Given the description of an element on the screen output the (x, y) to click on. 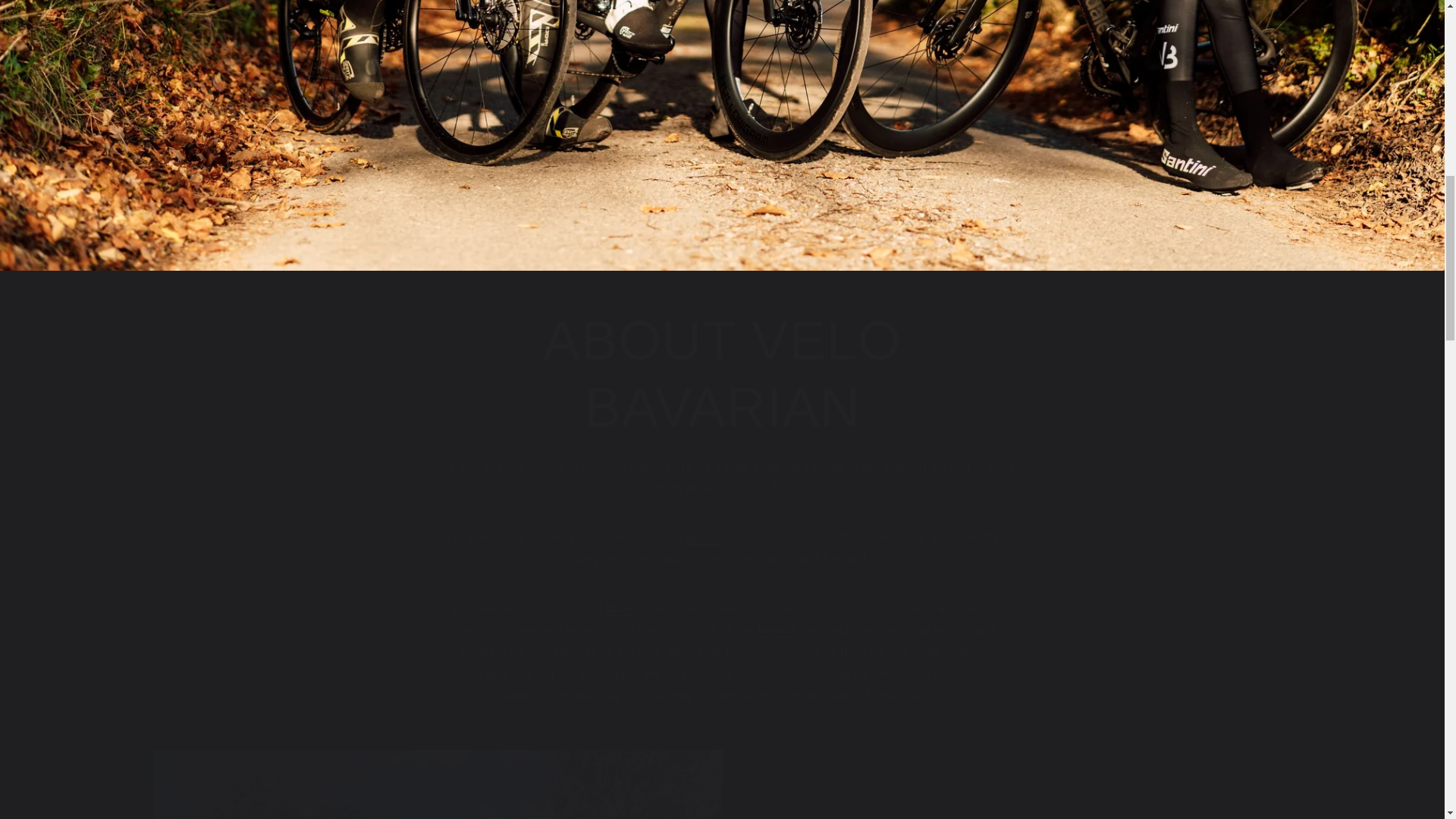
Bikes (622, 608)
Bike Servicing (705, 536)
Shop by brand (777, 630)
ABOUT VELO BAVARIAN (721, 374)
